Given the description of an element on the screen output the (x, y) to click on. 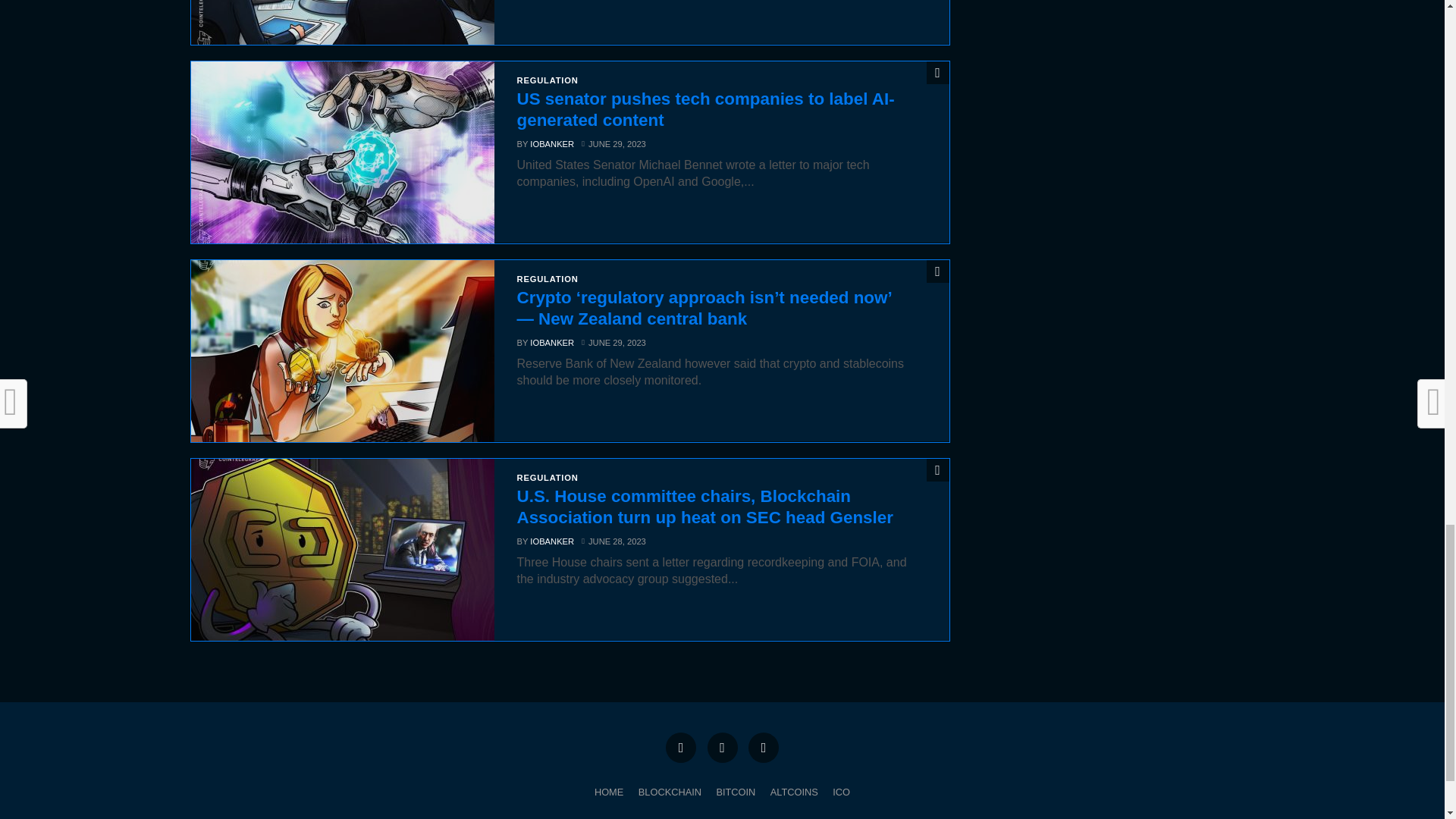
Posts by ioBanker (551, 143)
